Given the description of an element on the screen output the (x, y) to click on. 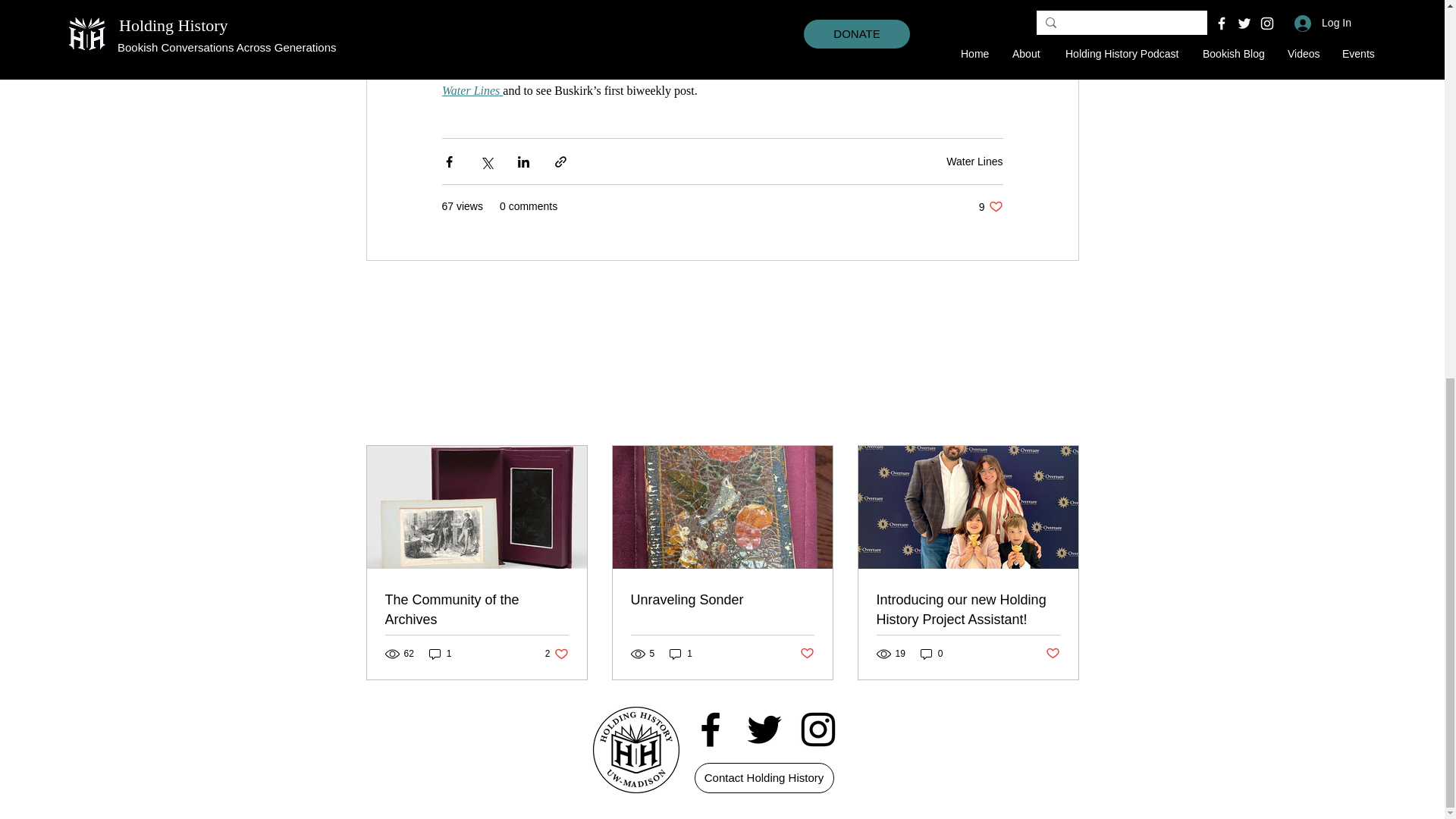
Water Lines (974, 161)
Click here to read more about  (917, 72)
Water Lines  (471, 90)
